Given the description of an element on the screen output the (x, y) to click on. 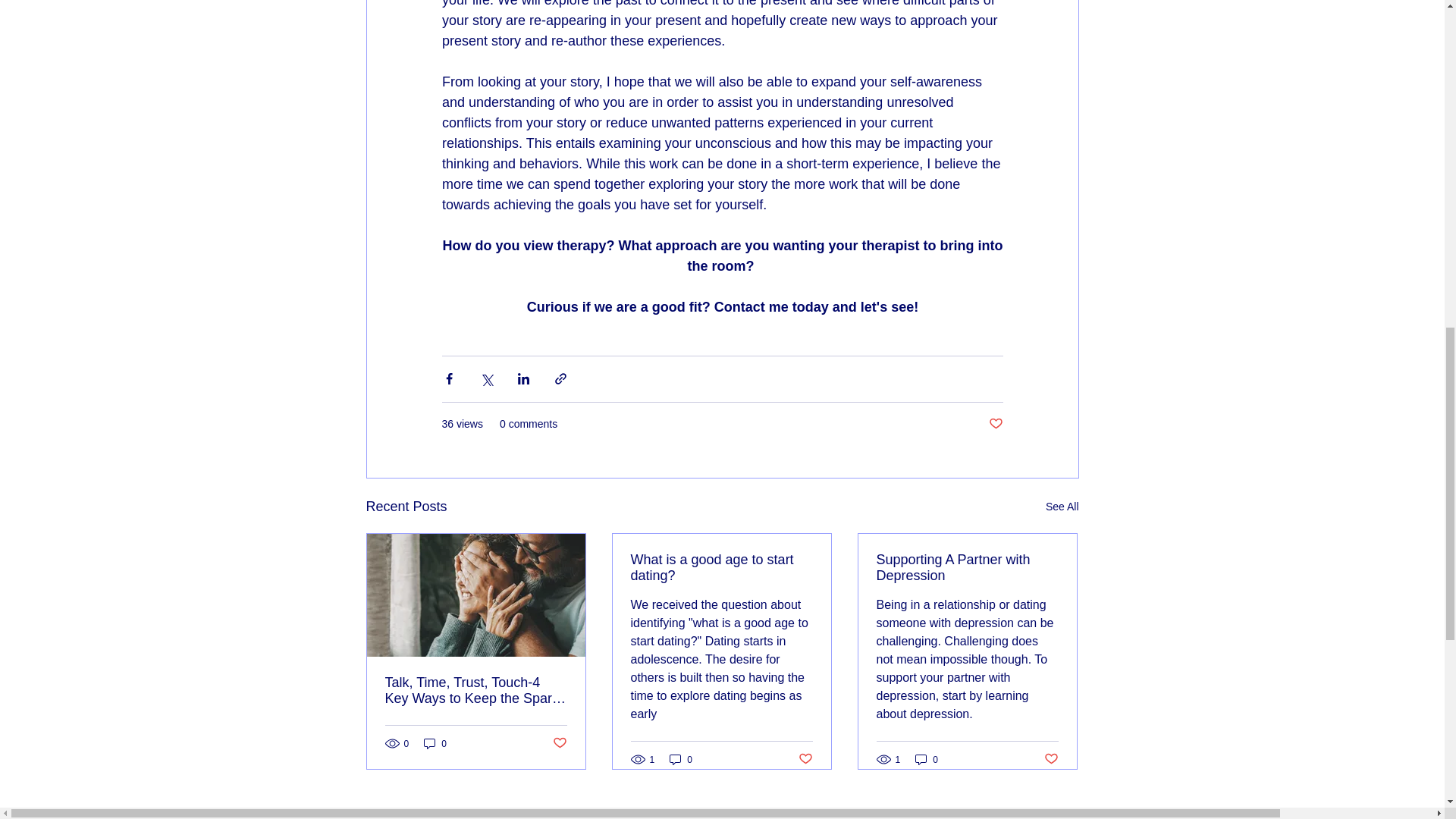
0 (435, 743)
Post not marked as liked (995, 424)
See All (1061, 506)
Talk, Time, Trust, Touch-4 Key Ways to Keep the Spark Alive (476, 690)
